Given the description of an element on the screen output the (x, y) to click on. 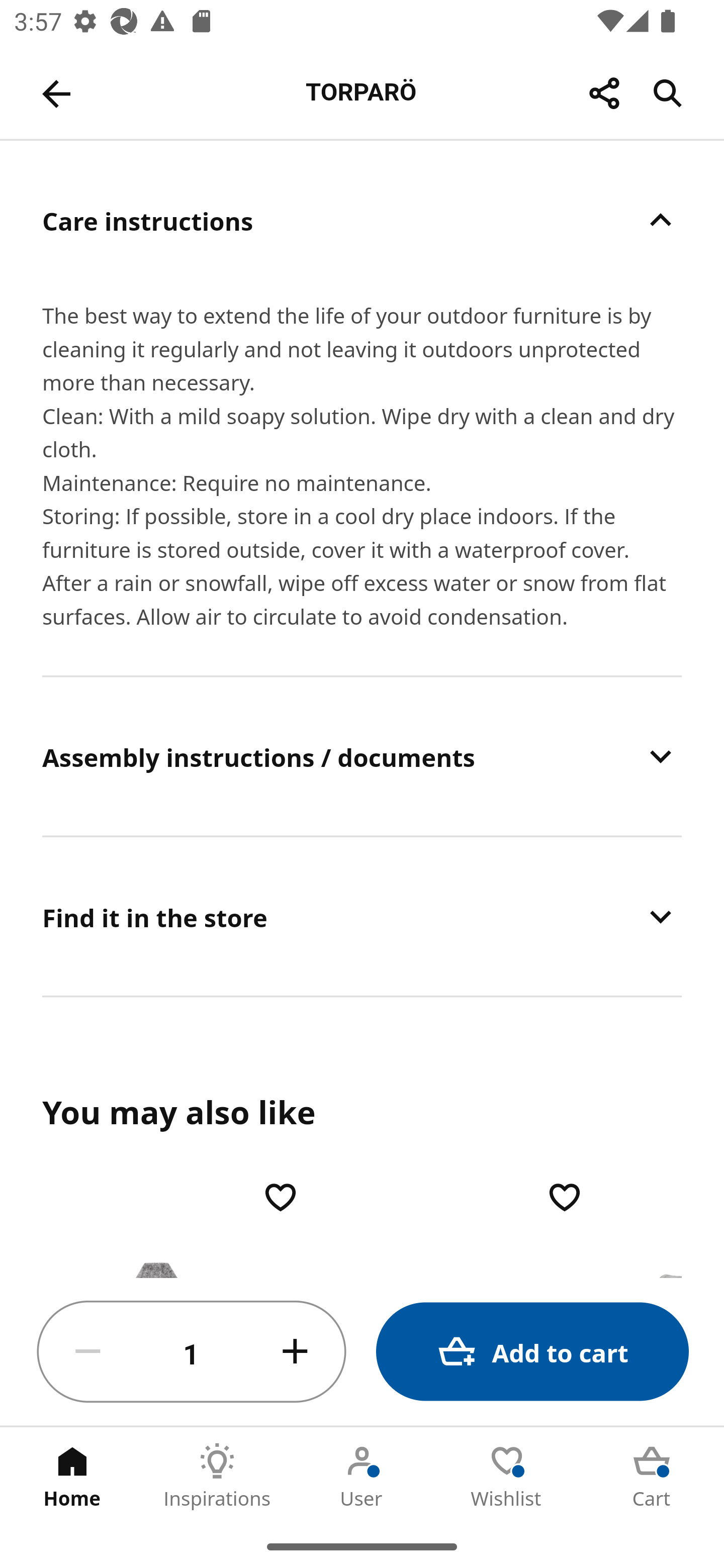
Care instructions (361, 219)
Assembly instructions / documents (361, 756)
Find it in the store (361, 916)
Add to cart (531, 1352)
1 (191, 1352)
Home
Tab 1 of 5 (72, 1476)
Inspirations
Tab 2 of 5 (216, 1476)
User
Tab 3 of 5 (361, 1476)
Wishlist
Tab 4 of 5 (506, 1476)
Cart
Tab 5 of 5 (651, 1476)
